Given the description of an element on the screen output the (x, y) to click on. 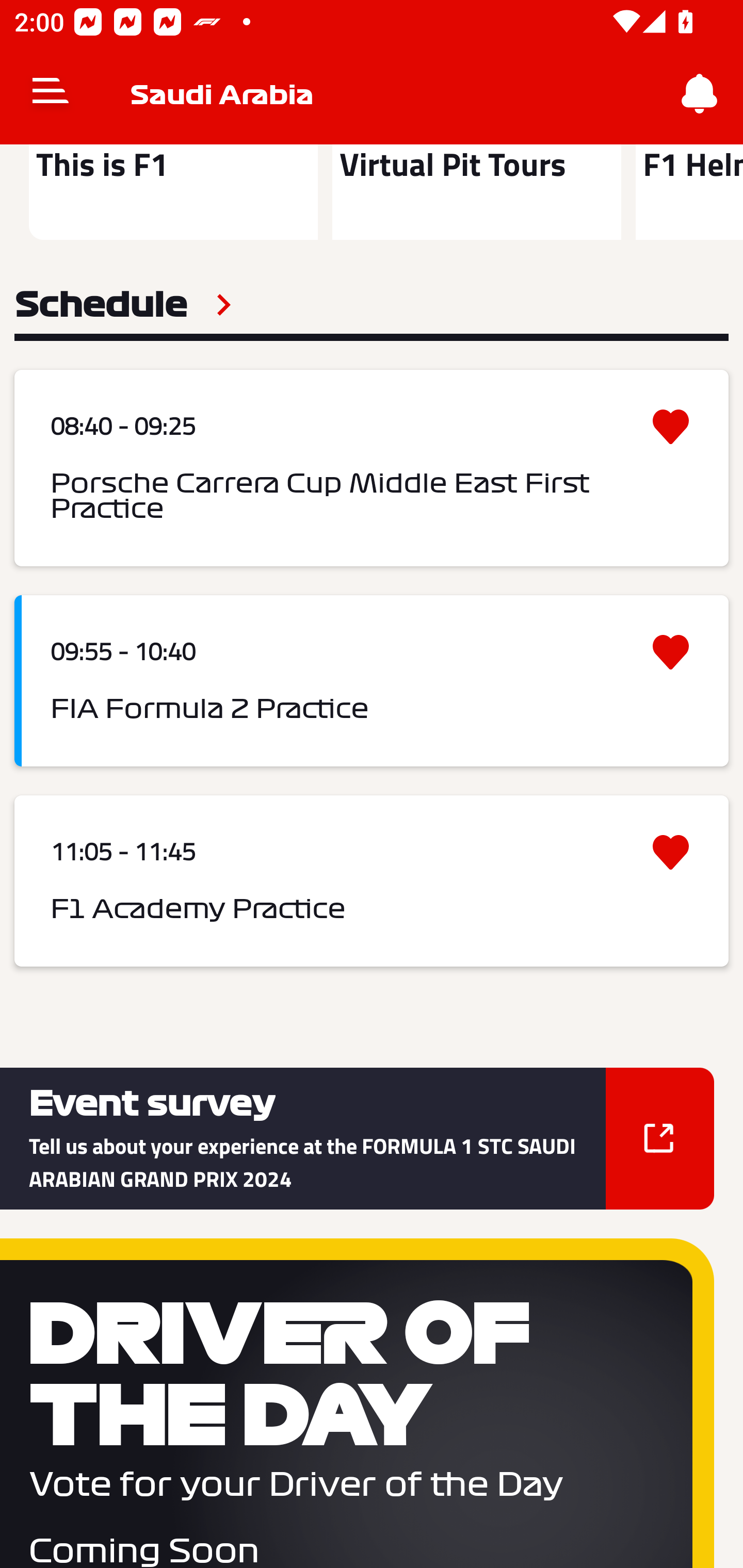
Navigate up (50, 93)
Notifications (699, 93)
This is F1 (173, 191)
Virtual Pit Tours (476, 191)
Schedule (122, 304)
09:55 - 10:40 FIA Formula 2 Practice (371, 680)
11:05 - 11:45 F1 Academy Practice (371, 879)
